Given the description of an element on the screen output the (x, y) to click on. 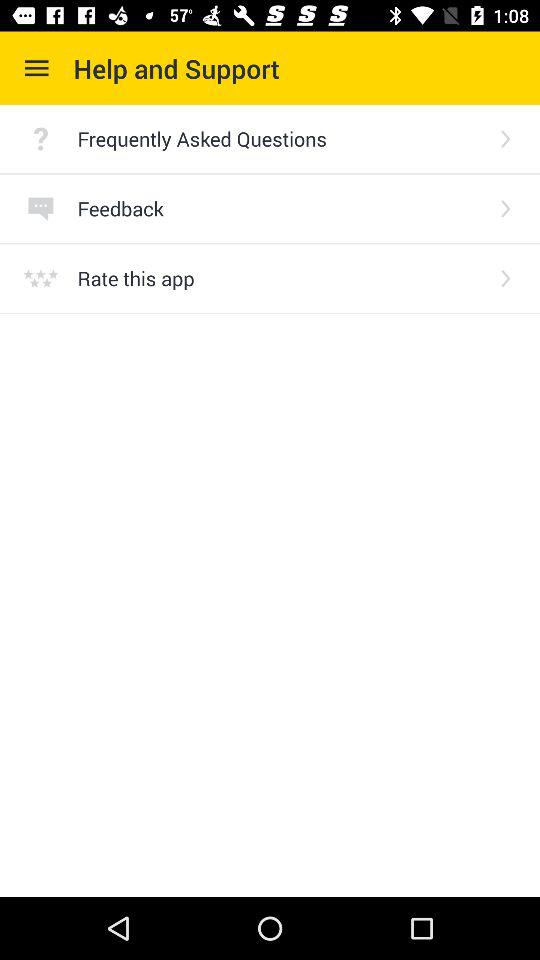
scroll to the rate this app (280, 278)
